Given the description of an element on the screen output the (x, y) to click on. 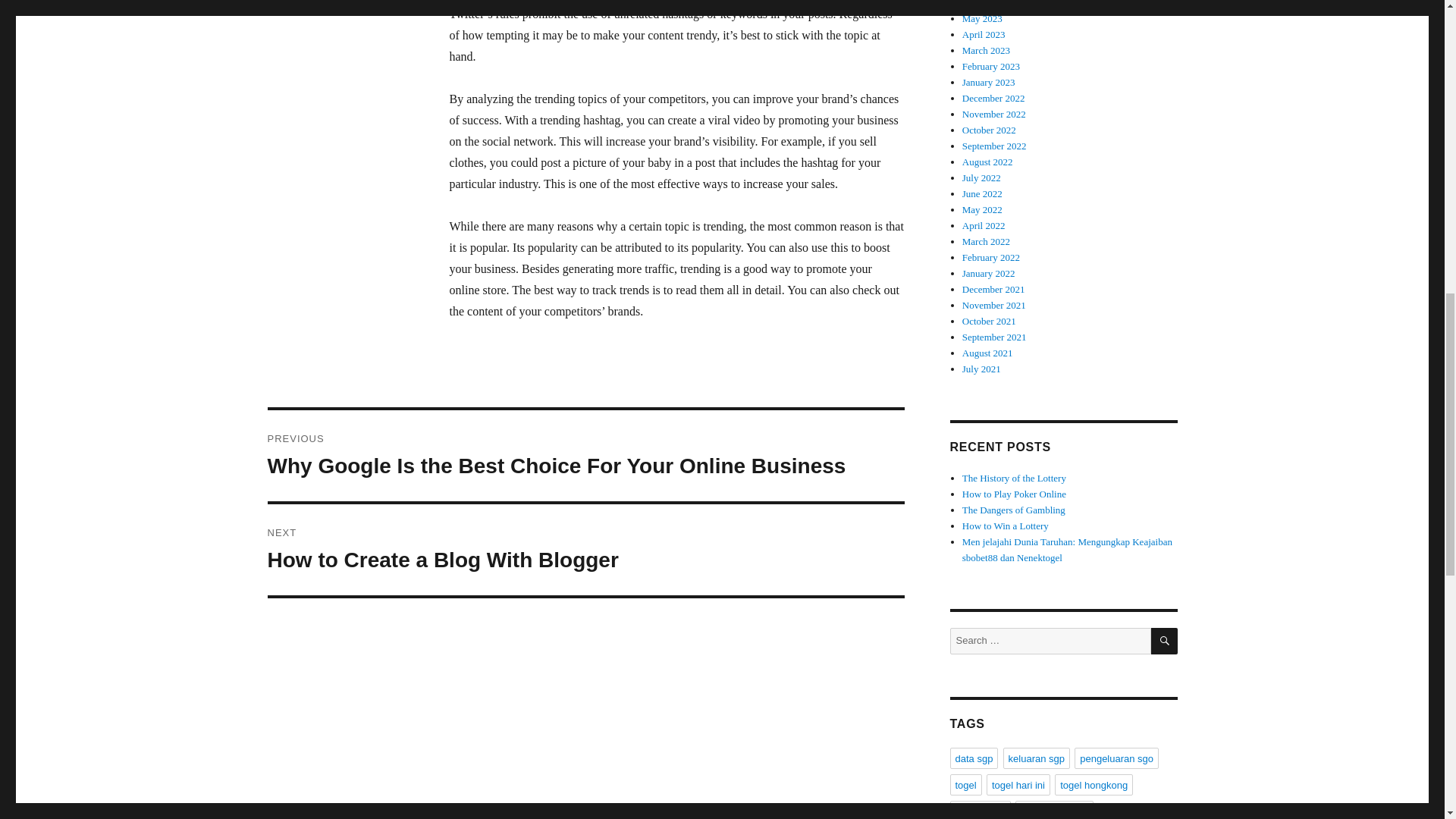
April 2023 (984, 34)
May 2023 (982, 18)
June 2023 (585, 549)
